Given the description of an element on the screen output the (x, y) to click on. 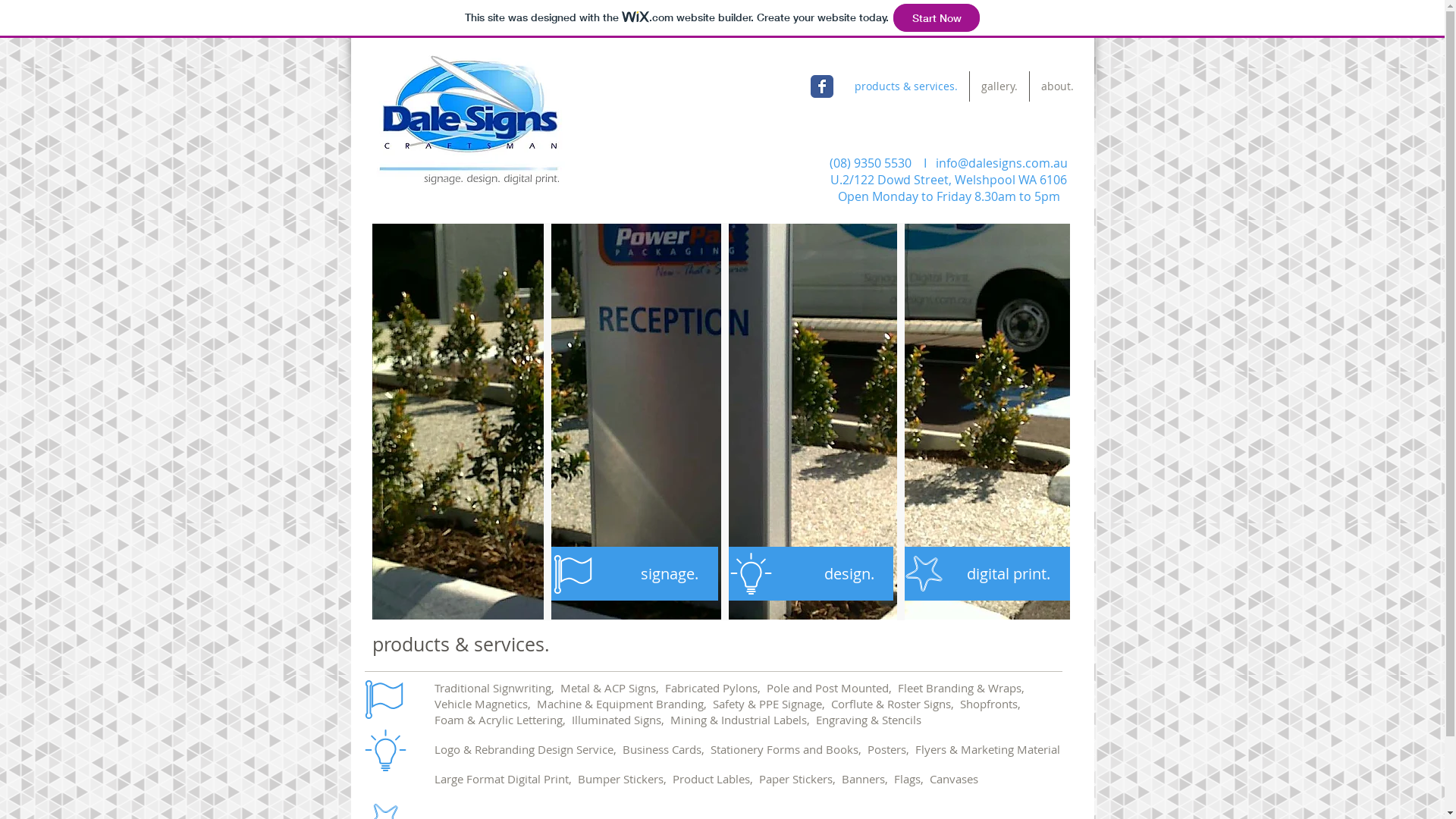
info@dalesigns.com.au Element type: text (1001, 162)
18082011053.jpg Element type: hover (720, 421)
DS FB logo.jpg Element type: hover (468, 119)
gallery. Element type: text (999, 86)
products & services. Element type: text (906, 86)
about. Element type: text (1057, 86)
